Given the description of an element on the screen output the (x, y) to click on. 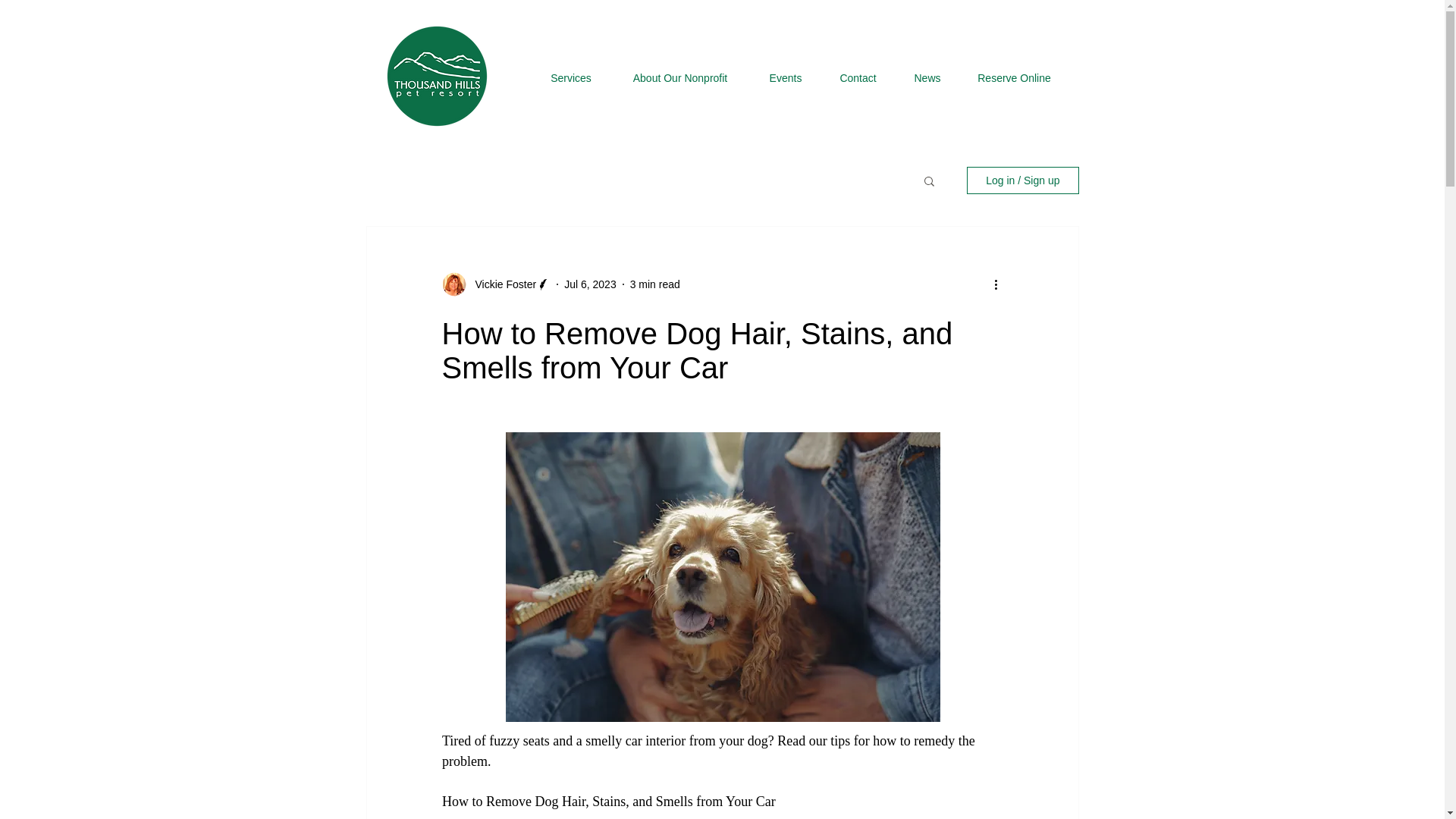
News (927, 78)
Jul 6, 2023 (589, 283)
Services (571, 78)
Events (785, 78)
Vickie Foster (500, 283)
About Our Nonprofit (679, 78)
Reserve Online (1013, 78)
3 min read (654, 283)
Contact (857, 78)
